Given the description of an element on the screen output the (x, y) to click on. 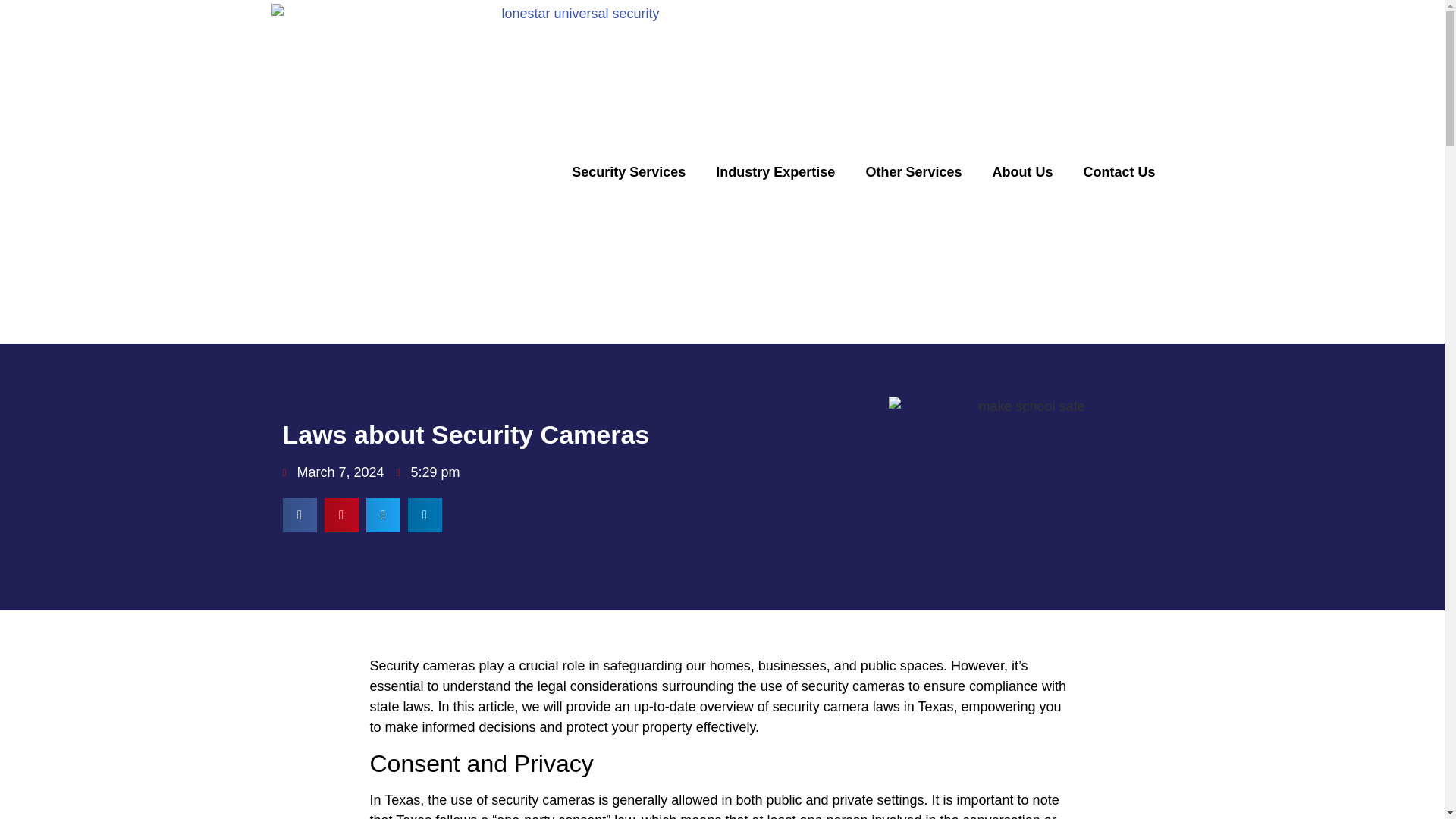
Contact Us (1118, 171)
Security Services (628, 171)
Industry Expertise (775, 171)
Other Services (913, 171)
About Us (1021, 171)
